Given the description of an element on the screen output the (x, y) to click on. 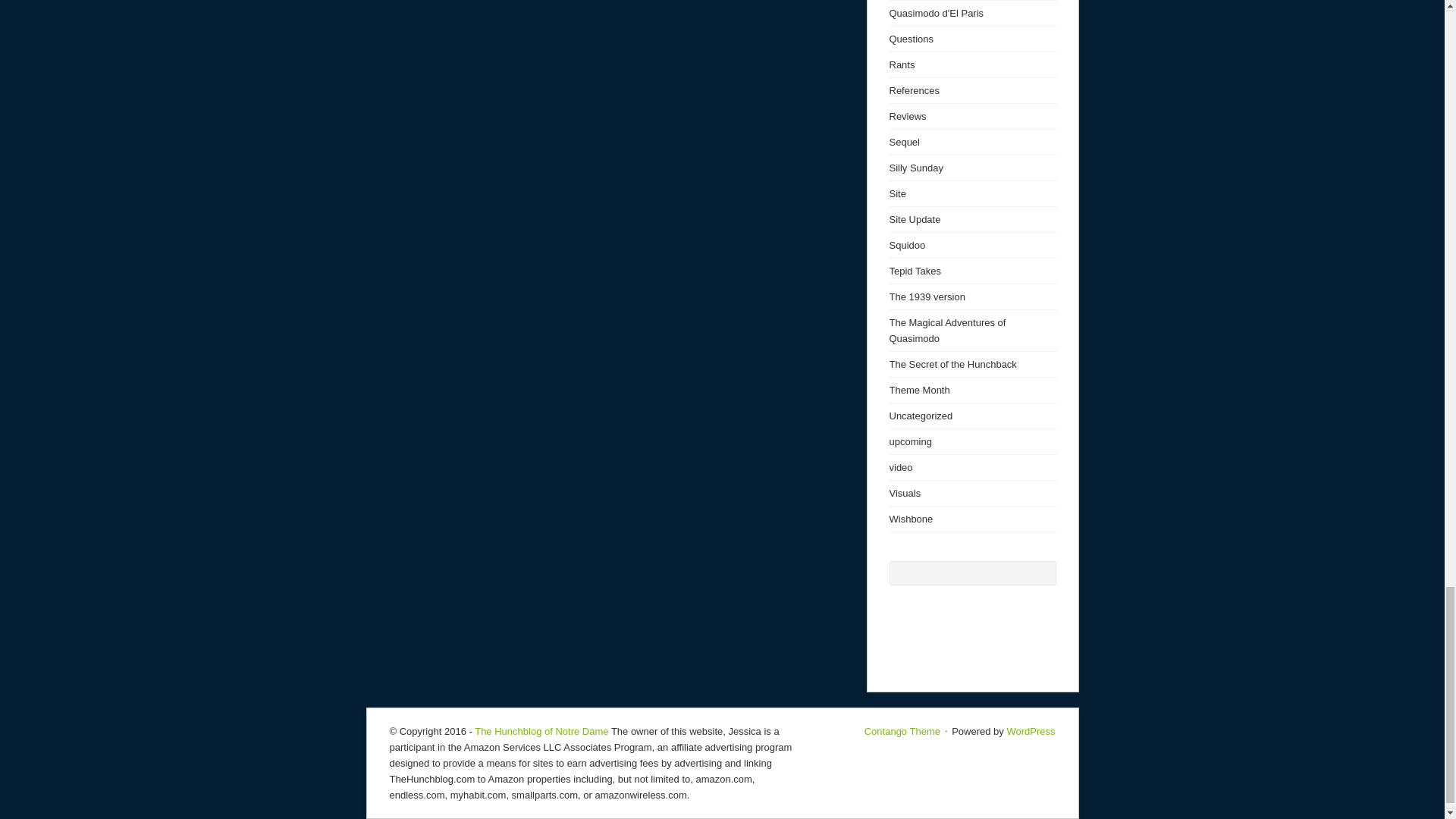
WordPress (1030, 731)
Contango Theme (902, 731)
